Given the description of an element on the screen output the (x, y) to click on. 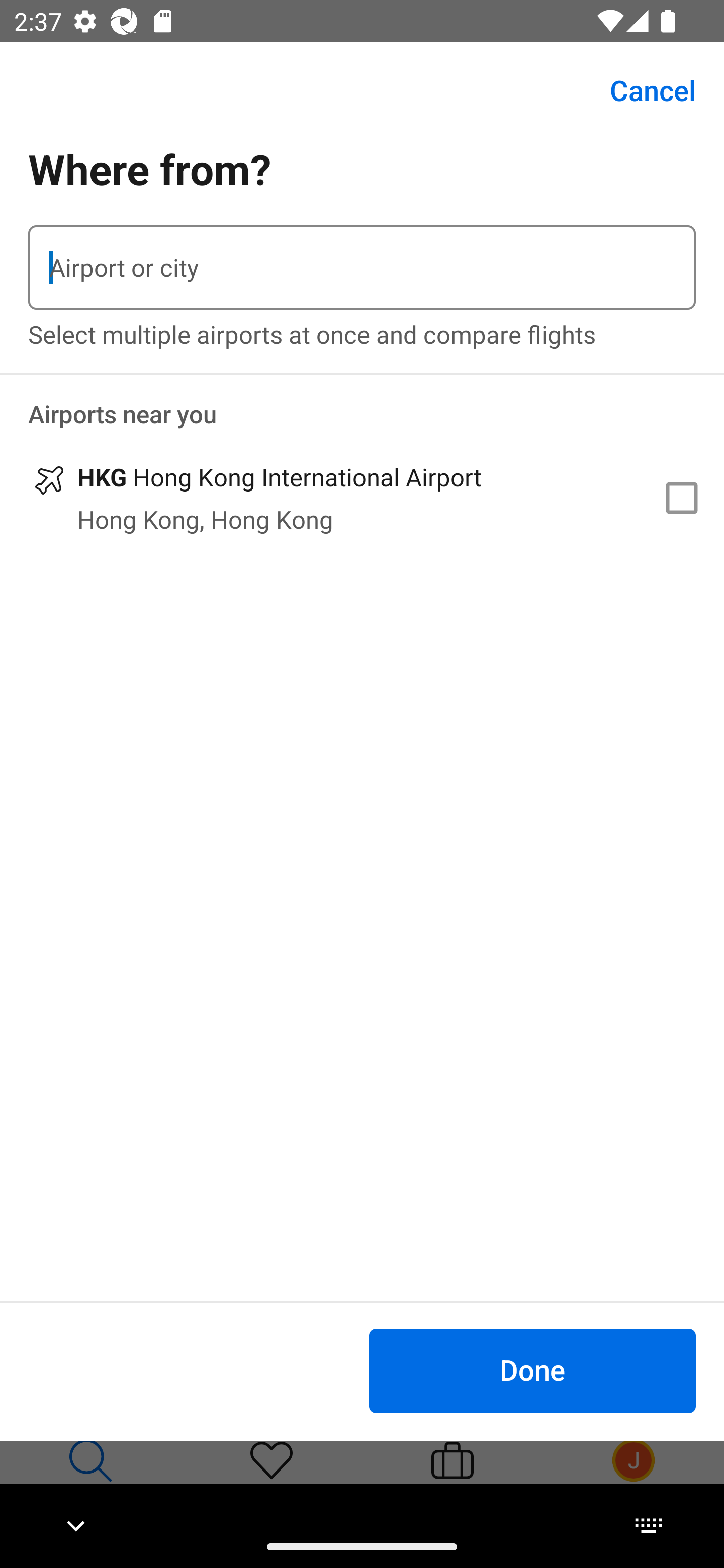
Cancel (641, 90)
Airport or city (361, 266)
Done (532, 1370)
